Given the description of an element on the screen output the (x, y) to click on. 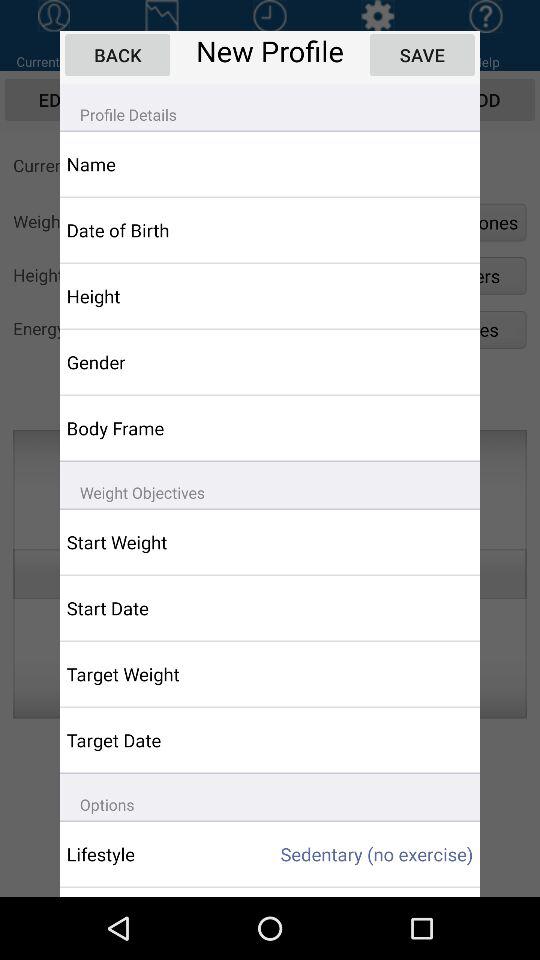
press the app below body frame (270, 484)
